Given the description of an element on the screen output the (x, y) to click on. 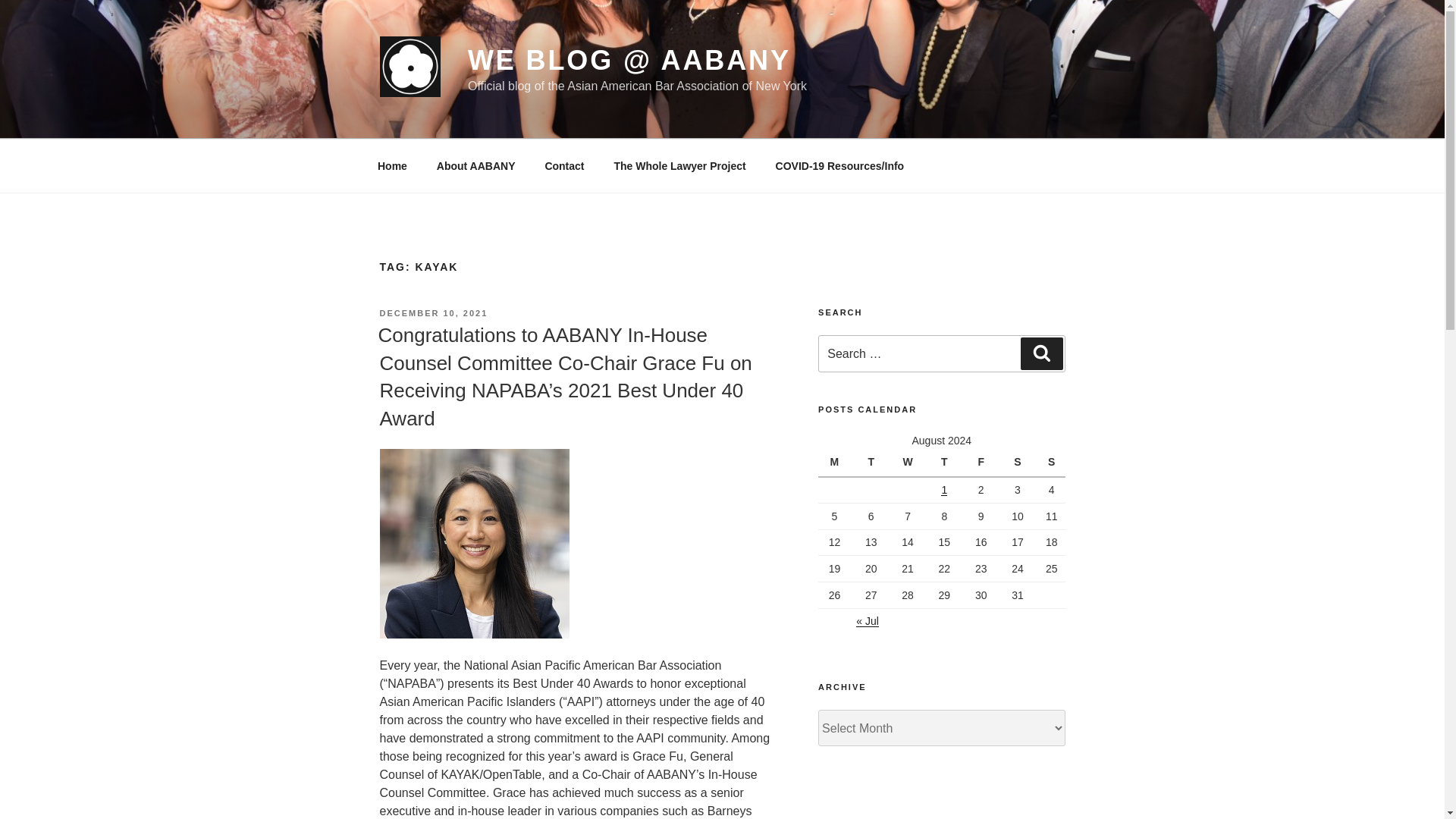
DECEMBER 10, 2021 (432, 312)
Friday (982, 462)
Saturday (1019, 462)
Contact (563, 165)
Home (392, 165)
Wednesday (909, 462)
Tuesday (872, 462)
About AABANY (475, 165)
Thursday (945, 462)
Monday (836, 462)
Sunday (1051, 462)
The Whole Lawyer Project (678, 165)
Search (1041, 353)
